Given the description of an element on the screen output the (x, y) to click on. 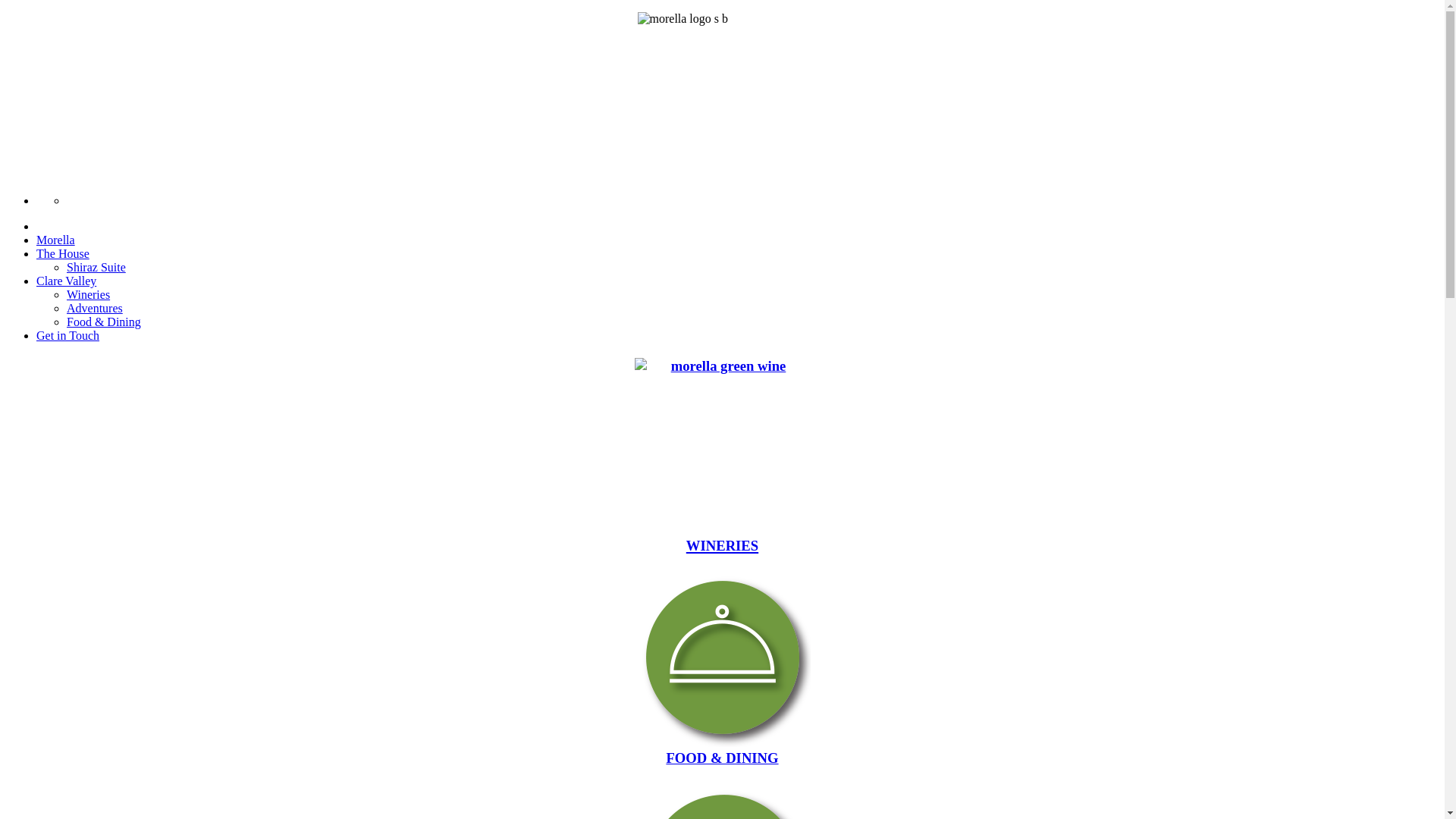
Shiraz Suite Element type: text (95, 266)
The House Element type: text (62, 253)
Clare Valley Element type: text (66, 280)
Adventures Element type: text (94, 307)
FOOD & DINING Element type: text (722, 667)
Wineries Element type: text (87, 294)
Get in Touch Element type: text (67, 335)
Food & Dining Element type: text (103, 321)
Morella Element type: text (55, 239)
WINERIES Element type: text (722, 455)
